Given the description of an element on the screen output the (x, y) to click on. 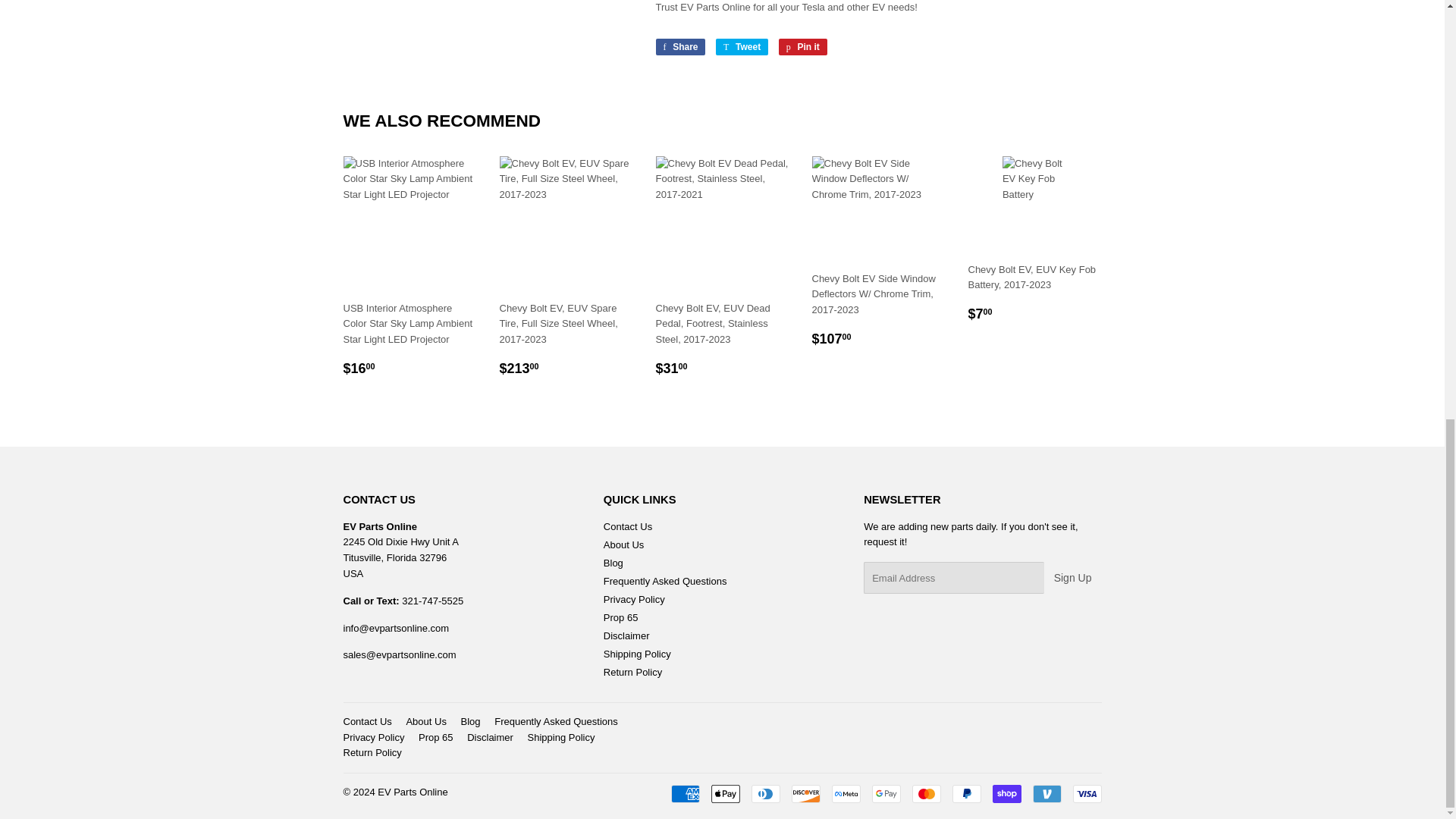
Share on Facebook (679, 46)
Mastercard (925, 793)
PayPal (966, 793)
Shop Pay (1005, 793)
Diners Club (764, 793)
Visa (1085, 793)
Meta Pay (845, 793)
American Express (683, 793)
Google Pay (886, 793)
Discover (806, 793)
